Given the description of an element on the screen output the (x, y) to click on. 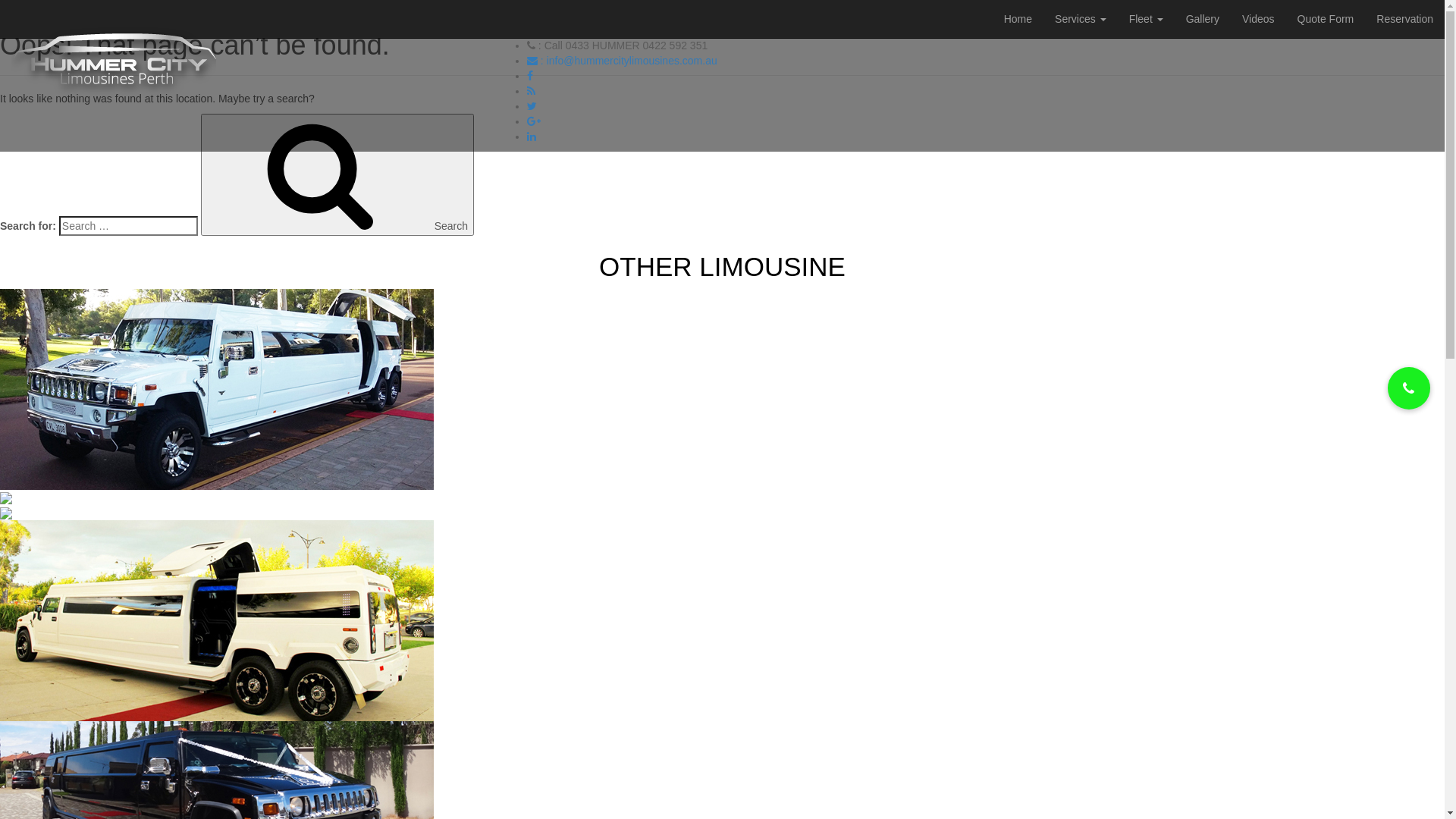
Linkedin Element type: hover (531, 136)
Gallery Element type: text (1202, 18)
Quote Form Element type: text (1325, 18)
Search Element type: text (336, 174)
Twitter Element type: hover (531, 106)
Fleet Element type: text (1145, 18)
Rss Element type: hover (531, 90)
Home Element type: text (1017, 18)
Google + Element type: hover (533, 121)
Reservation Element type: text (1404, 18)
: info@hummercitylimousines.com.au Element type: text (622, 60)
Services Element type: text (1080, 18)
Videos Element type: text (1258, 18)
Facebook Element type: hover (530, 75)
